Given the description of an element on the screen output the (x, y) to click on. 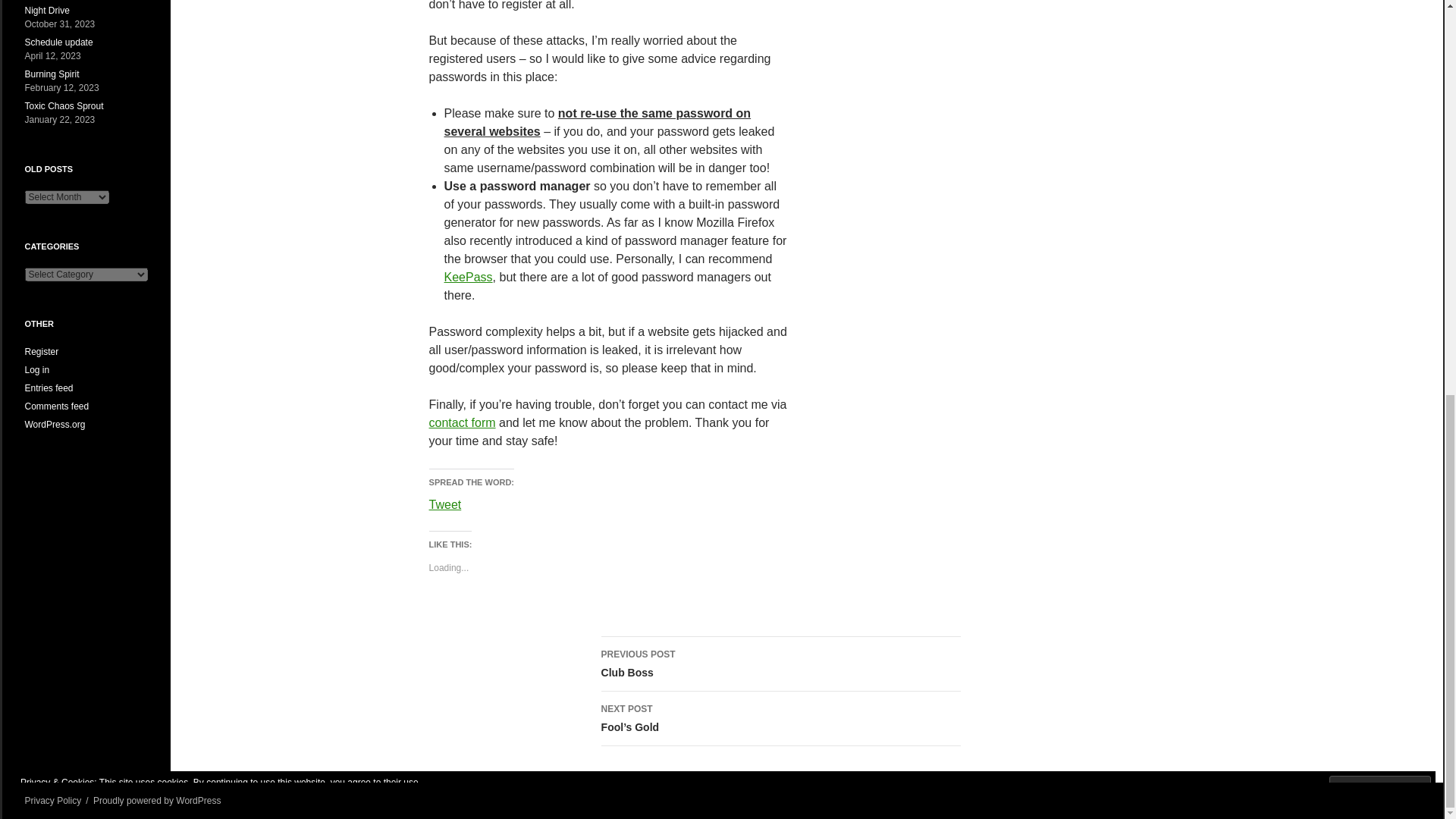
Tweet (445, 502)
KeePass (468, 277)
contact form (780, 664)
Close and accept (462, 422)
